Given the description of an element on the screen output the (x, y) to click on. 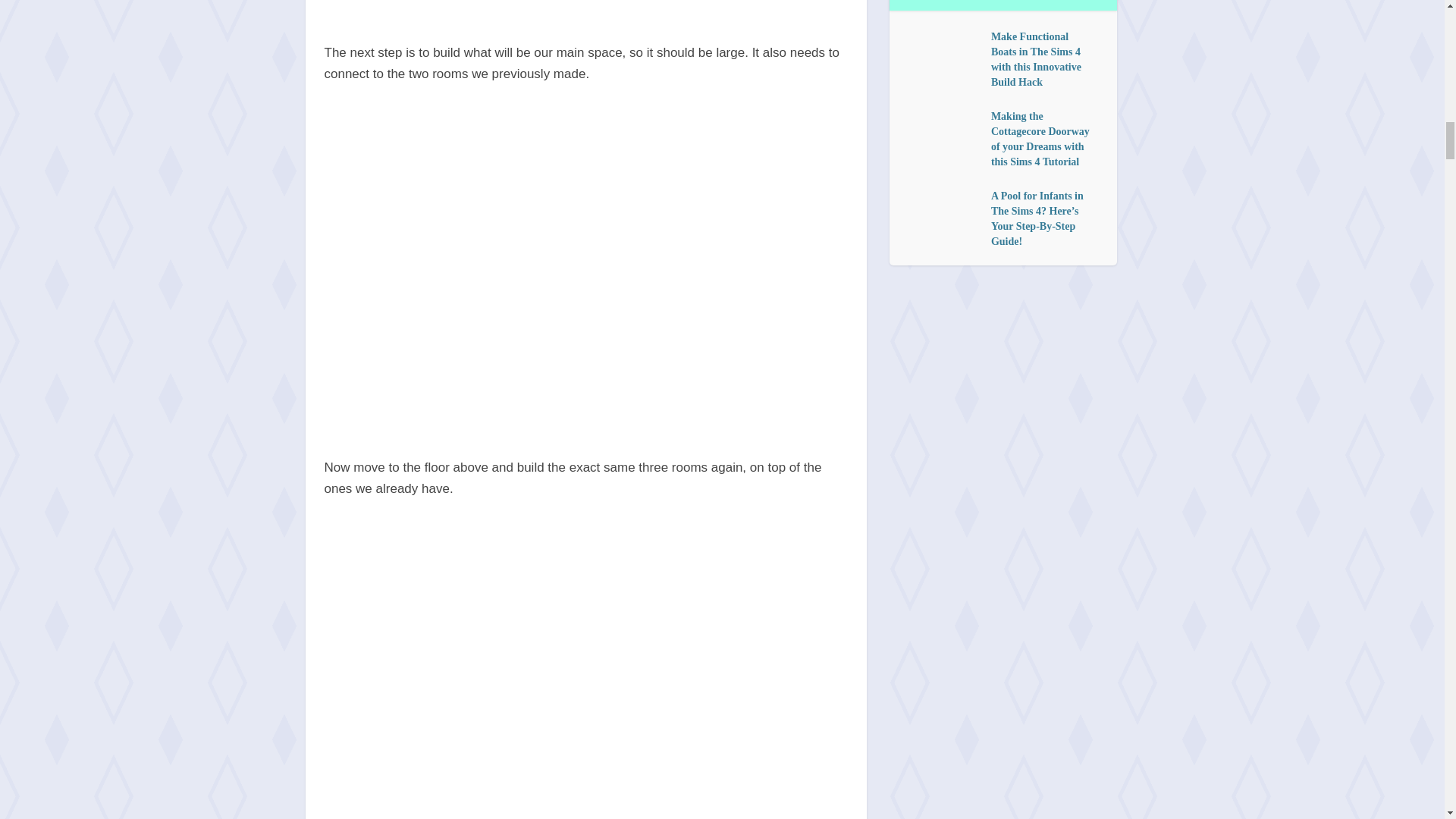
The Sims 4 Building: Creating Suspended Buildings 5 (585, 9)
